Given the description of an element on the screen output the (x, y) to click on. 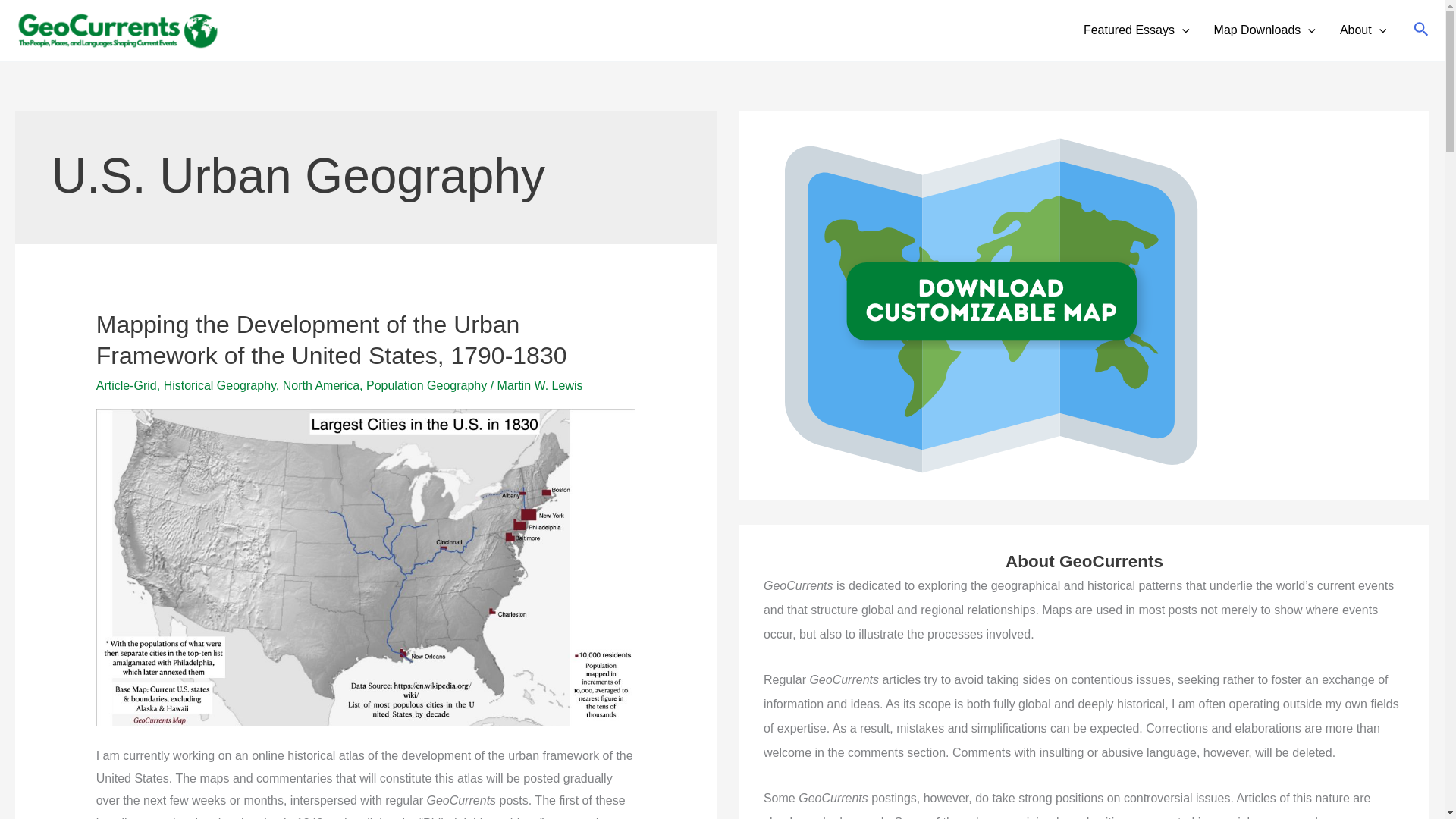
View all posts by Martin W. Lewis (540, 385)
Map Downloads (1264, 30)
About (1362, 30)
Search (1421, 30)
Featured Essays (1136, 30)
